Given the description of an element on the screen output the (x, y) to click on. 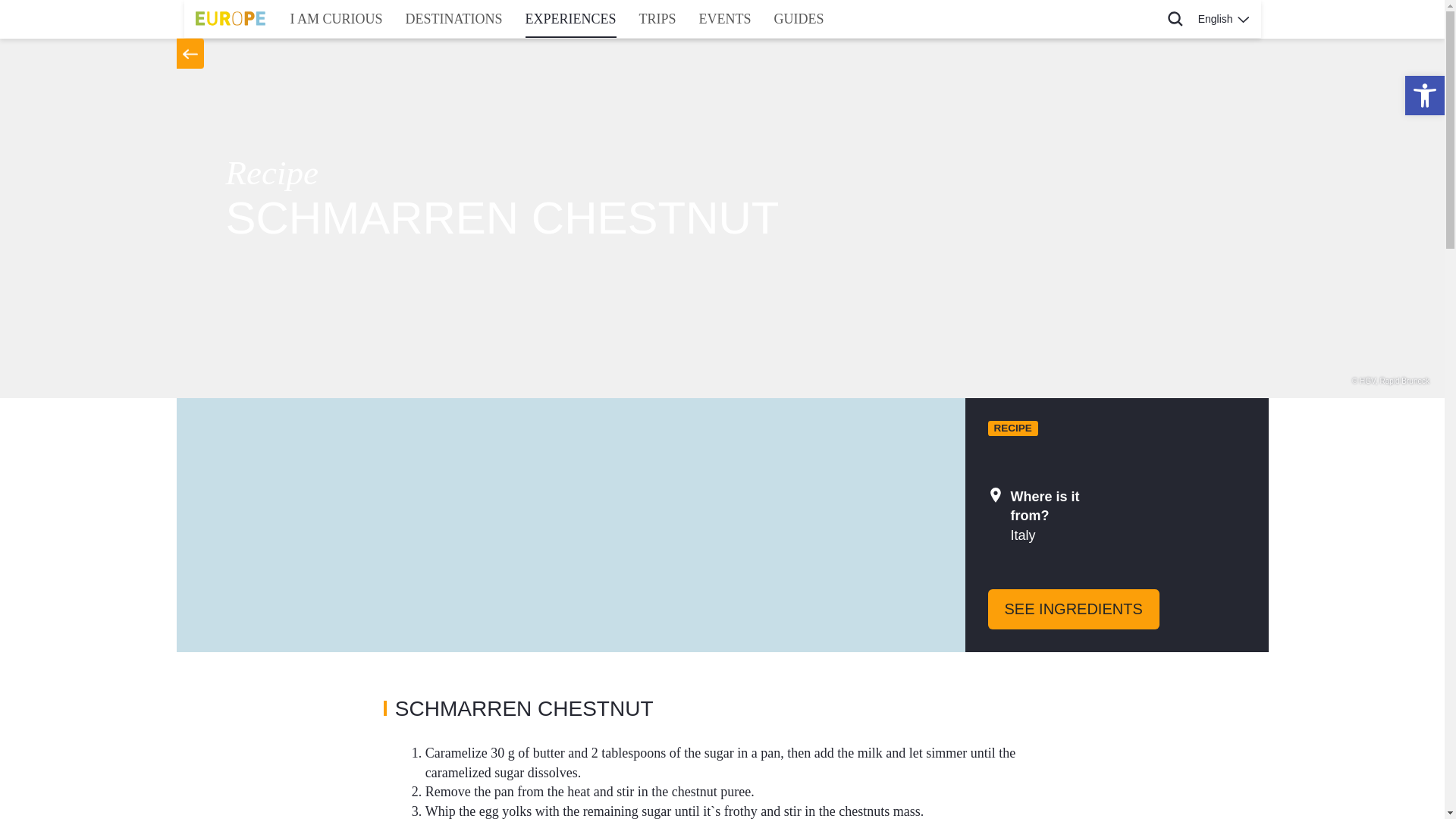
EVENTS (724, 18)
Trips (657, 18)
GUIDES (798, 18)
TRIPS (657, 18)
I am curious (336, 18)
EXPERIENCES (570, 18)
English (1223, 18)
Guides (798, 18)
Accessibility Tools (1424, 95)
I AM CURIOUS (336, 18)
